Given the description of an element on the screen output the (x, y) to click on. 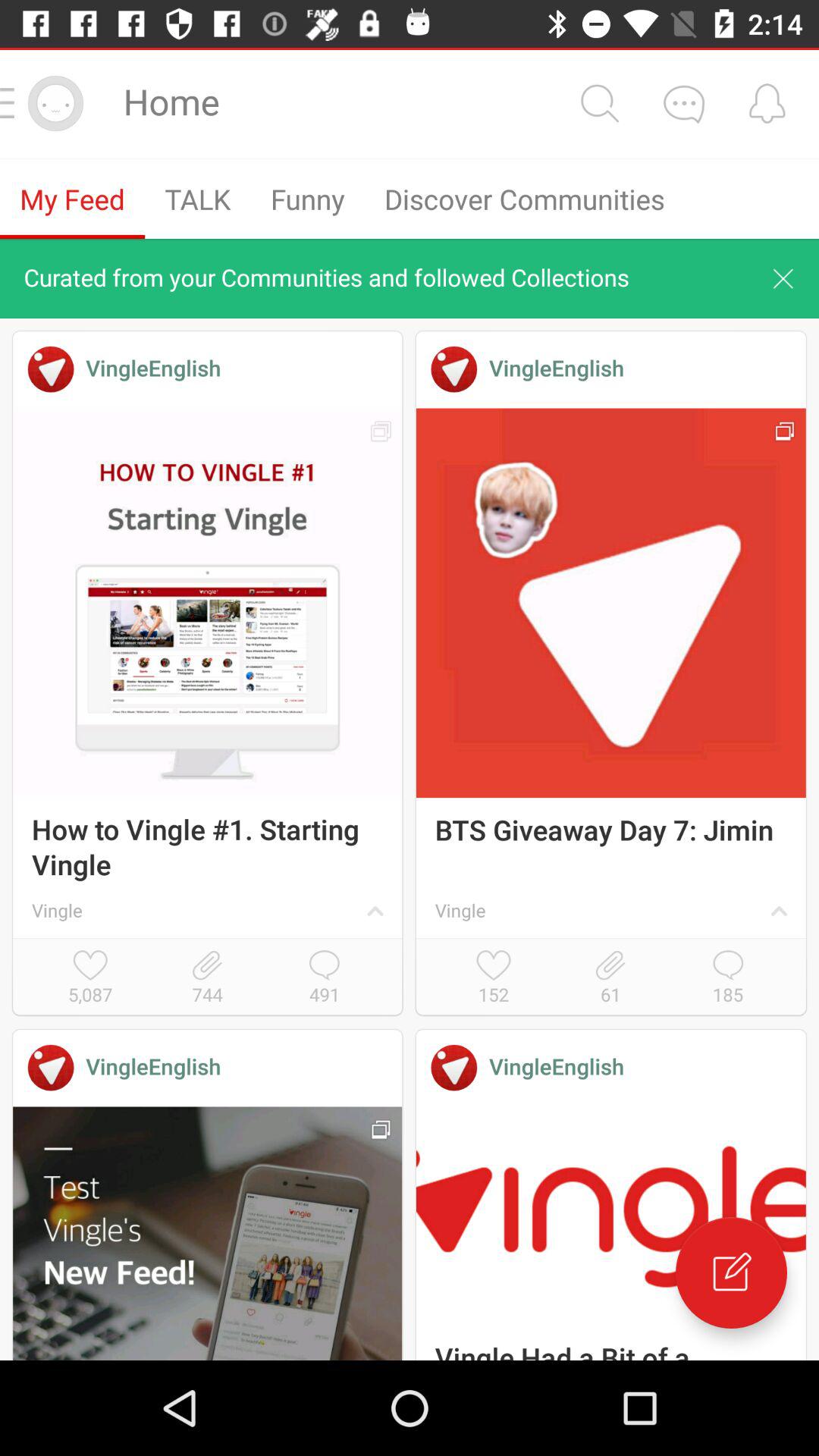
launch the item next to the 5,087 icon (207, 978)
